Given the description of an element on the screen output the (x, y) to click on. 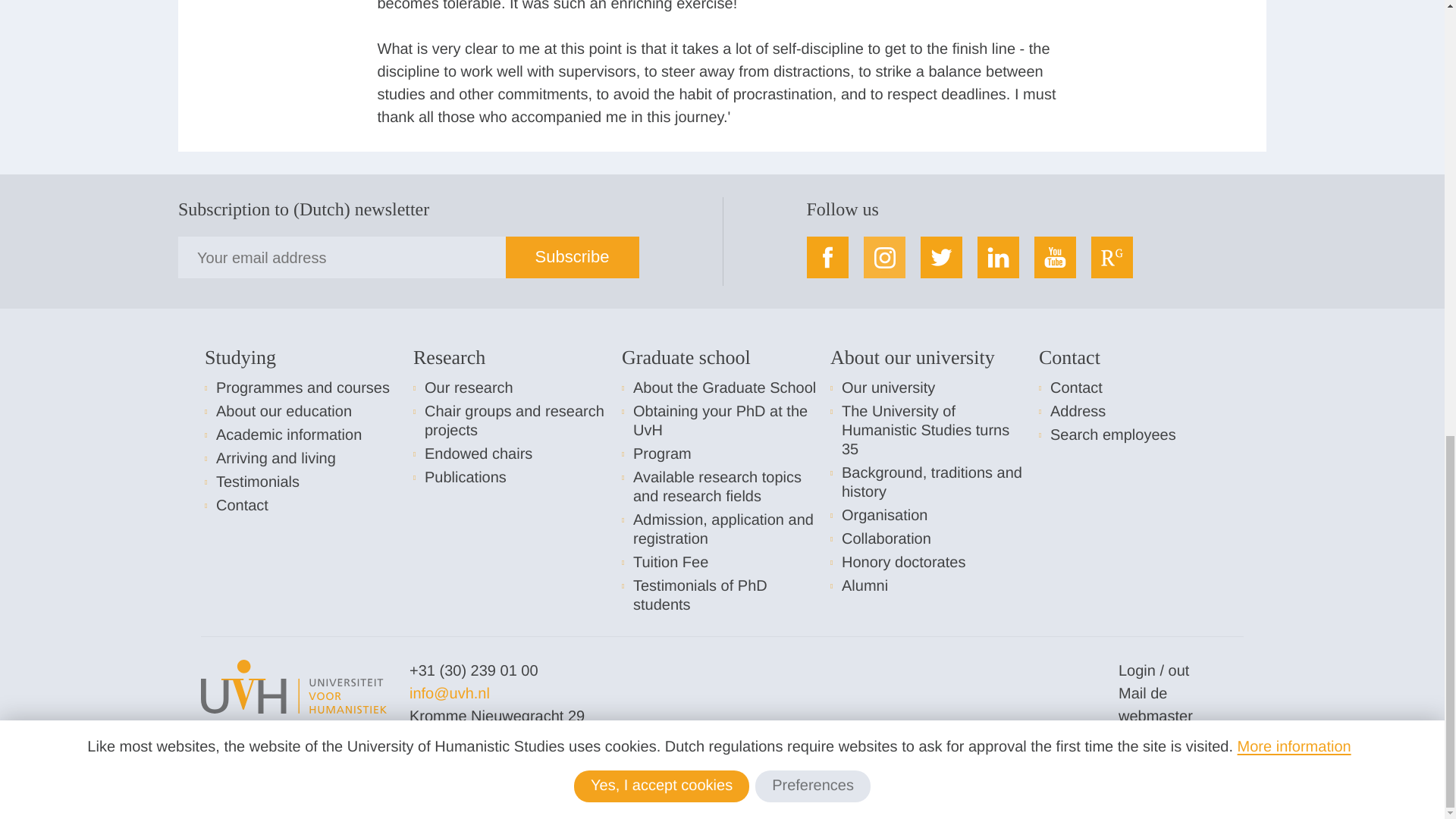
Opens in a new window (1153, 739)
Opens in a new window (1155, 704)
Opens in a new window (449, 693)
